Given the description of an element on the screen output the (x, y) to click on. 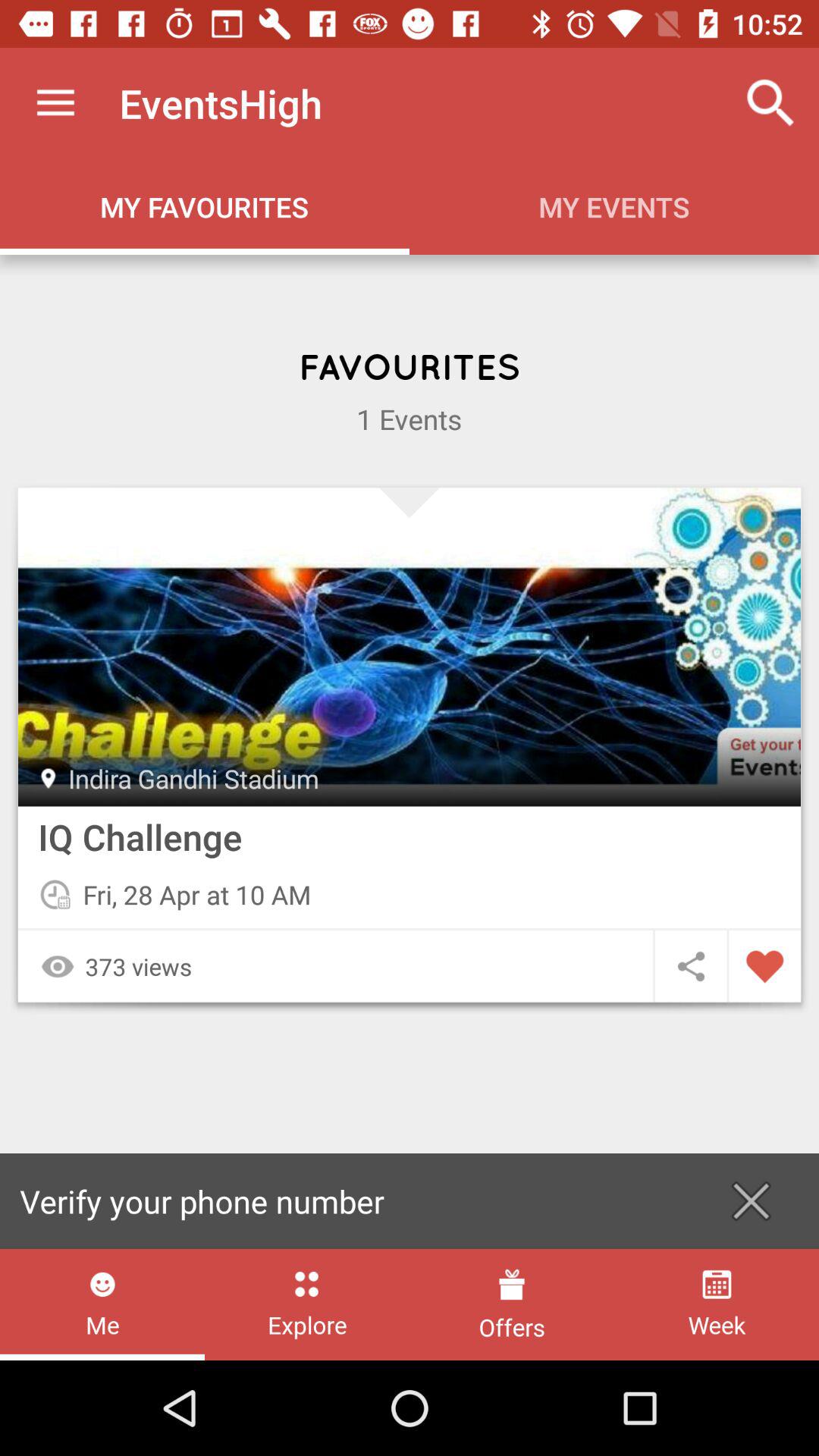
swipe until me icon (101, 1304)
